Given the description of an element on the screen output the (x, y) to click on. 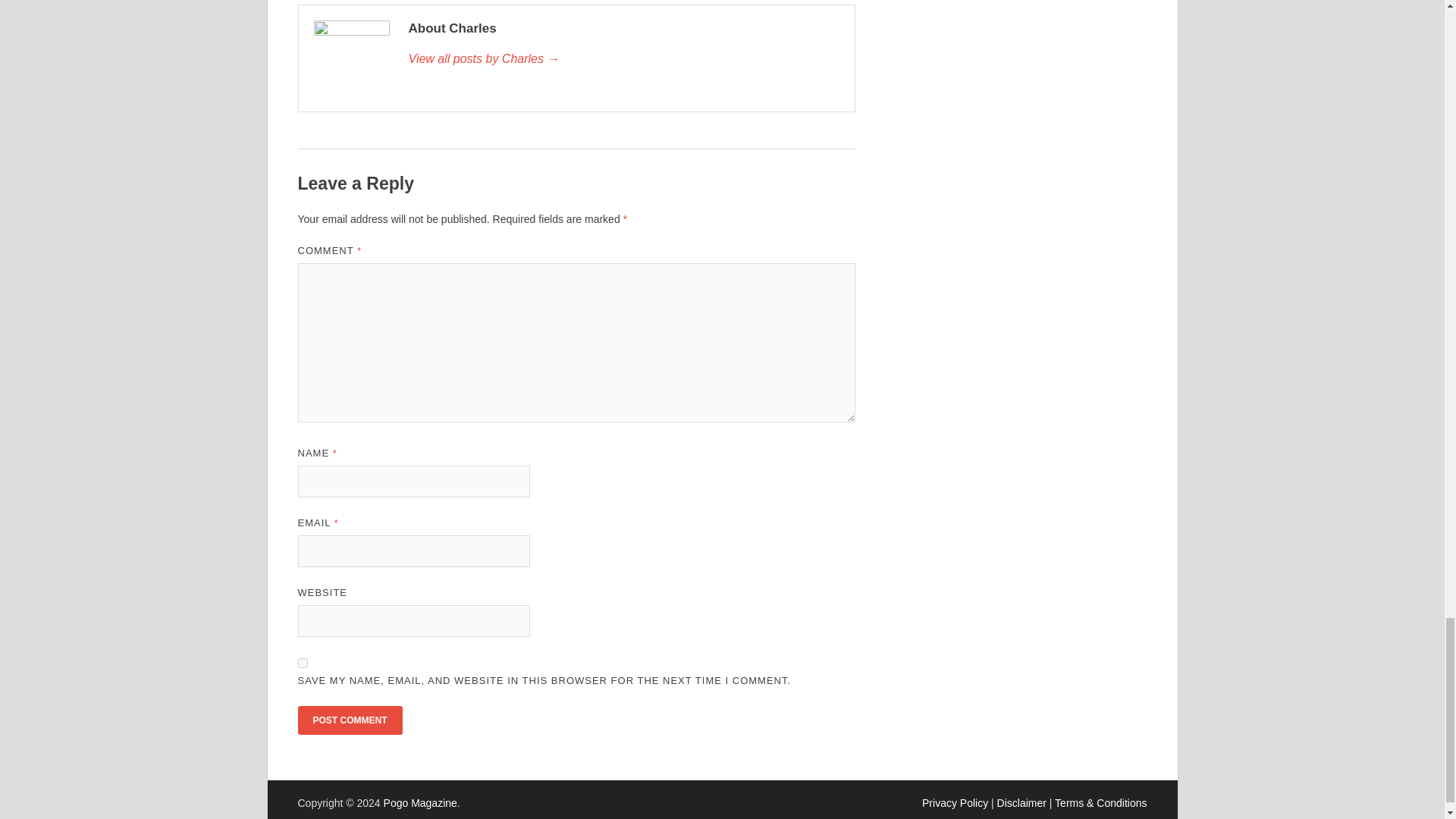
Pogo Magazine (420, 802)
Disclaimer (1021, 802)
Charles (622, 58)
Privacy Policy (954, 802)
Post Comment (349, 719)
Post Comment (349, 719)
Pogo Magazine (420, 802)
yes (302, 663)
